Given the description of an element on the screen output the (x, y) to click on. 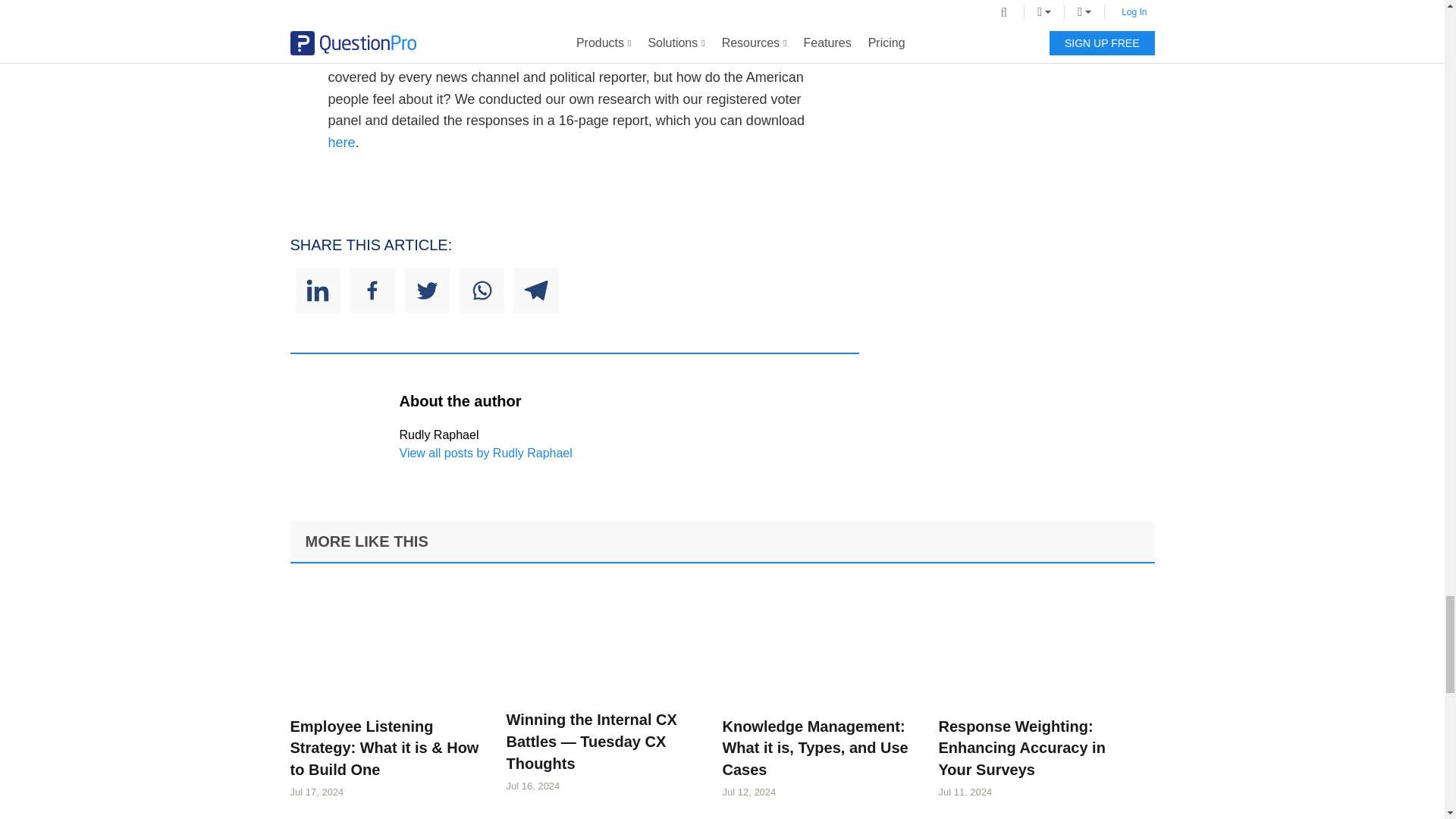
Telegram (534, 289)
Whatsapp (480, 289)
Facebook (371, 289)
Linkedin (316, 289)
Twitter (425, 289)
